Given the description of an element on the screen output the (x, y) to click on. 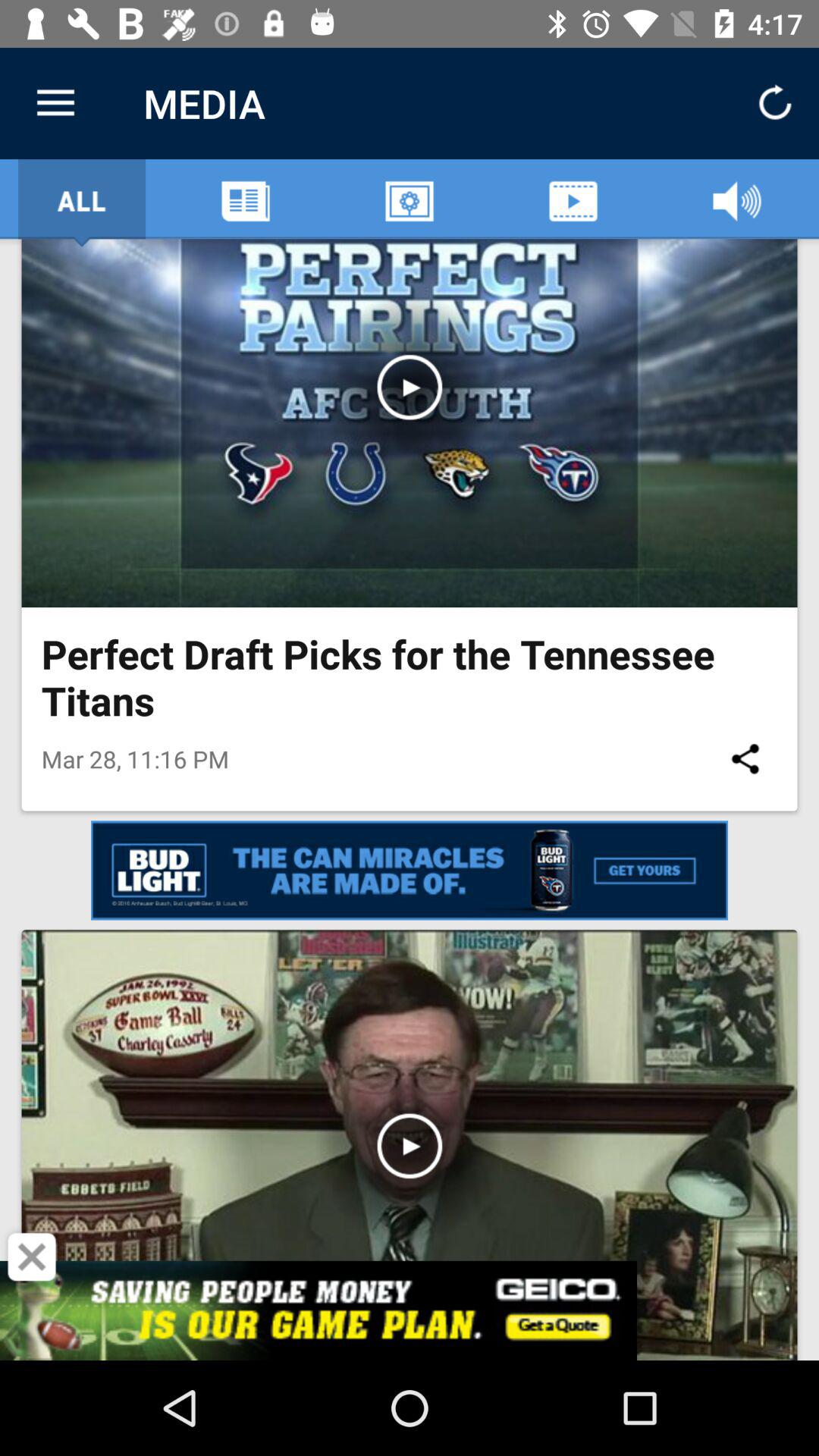
press the icon below the mar 28 11 item (31, 1256)
